Given the description of an element on the screen output the (x, y) to click on. 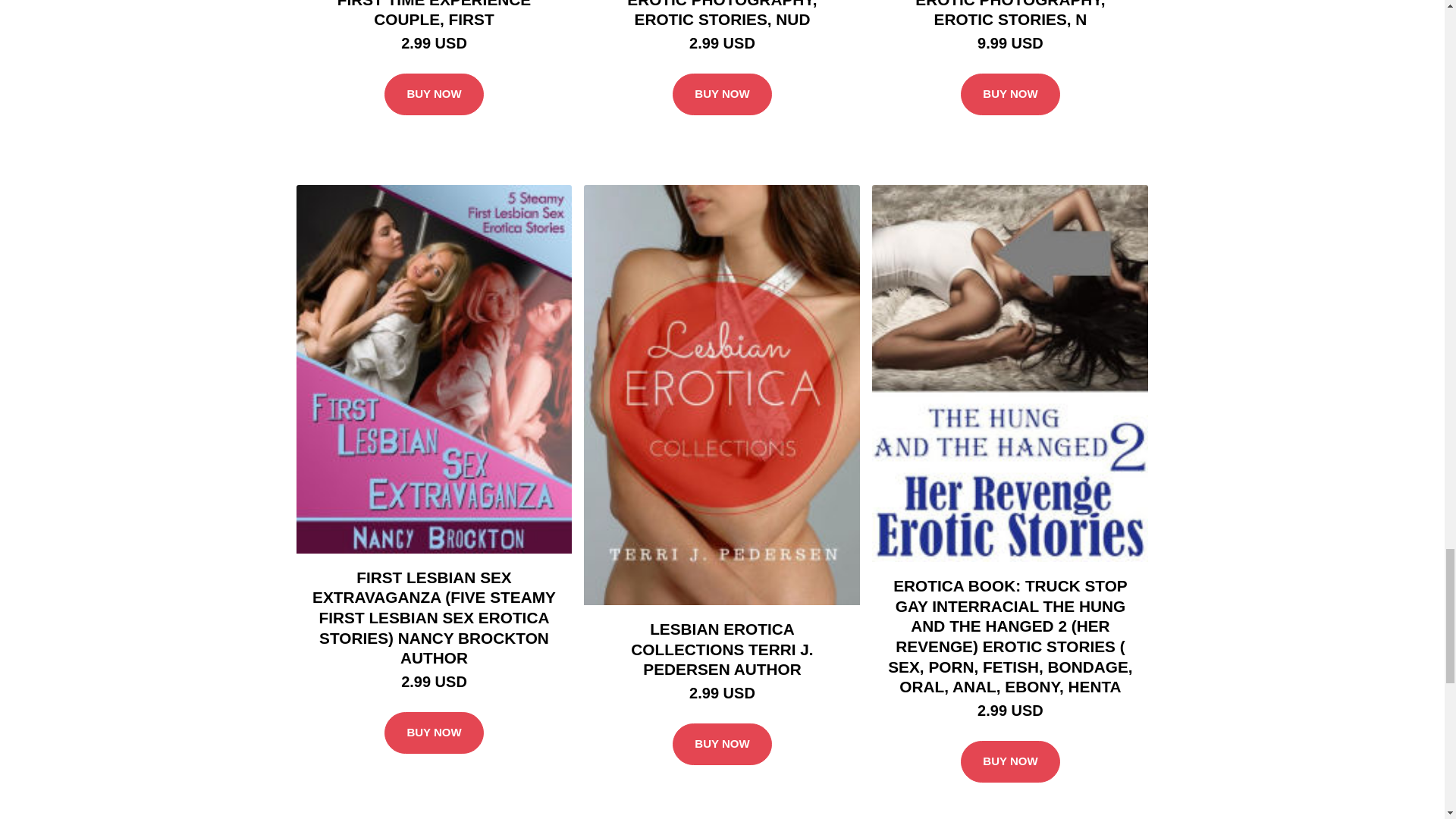
BUY NOW (433, 94)
